Given the description of an element on the screen output the (x, y) to click on. 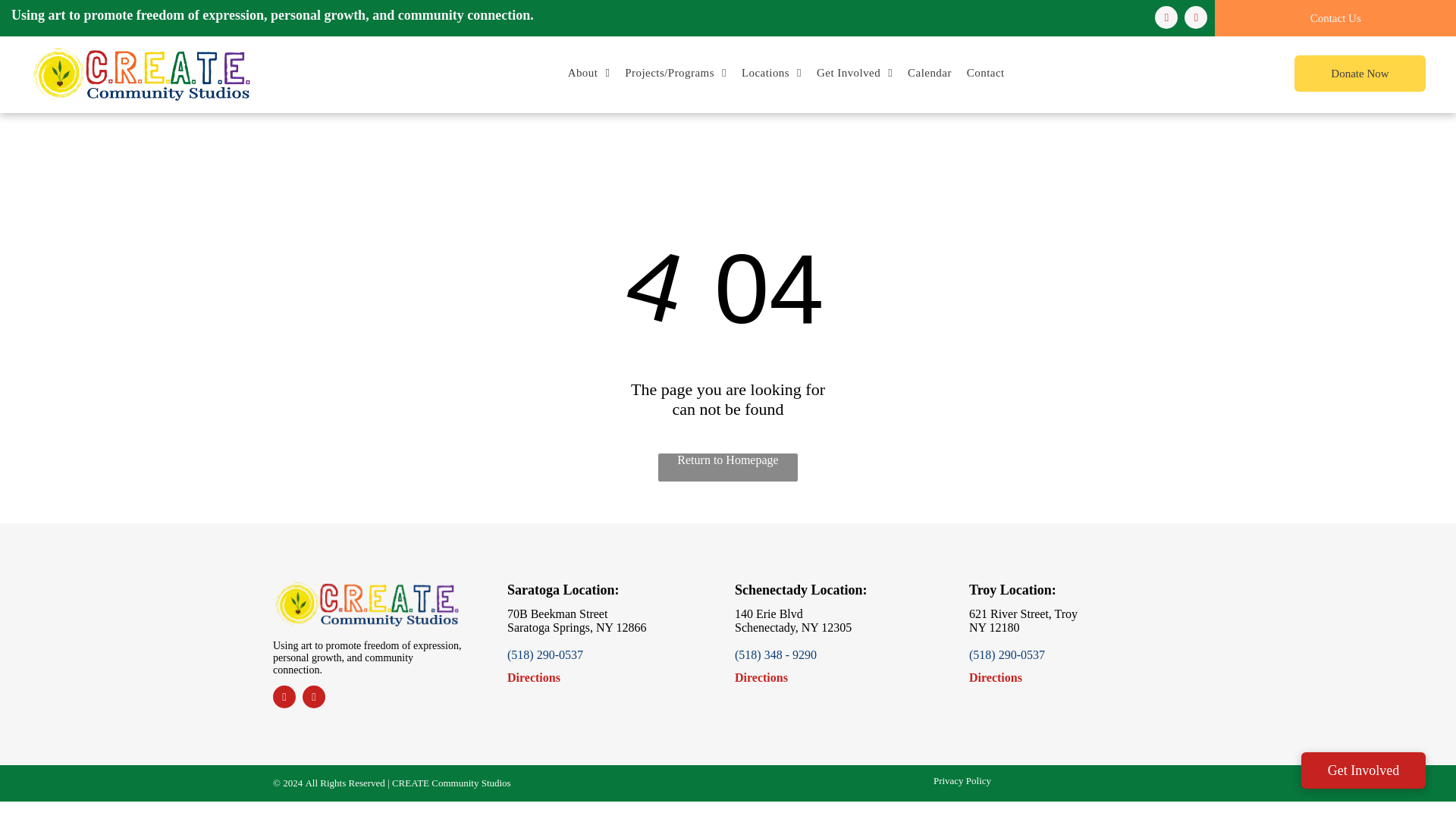
About (588, 72)
